Given the description of an element on the screen output the (x, y) to click on. 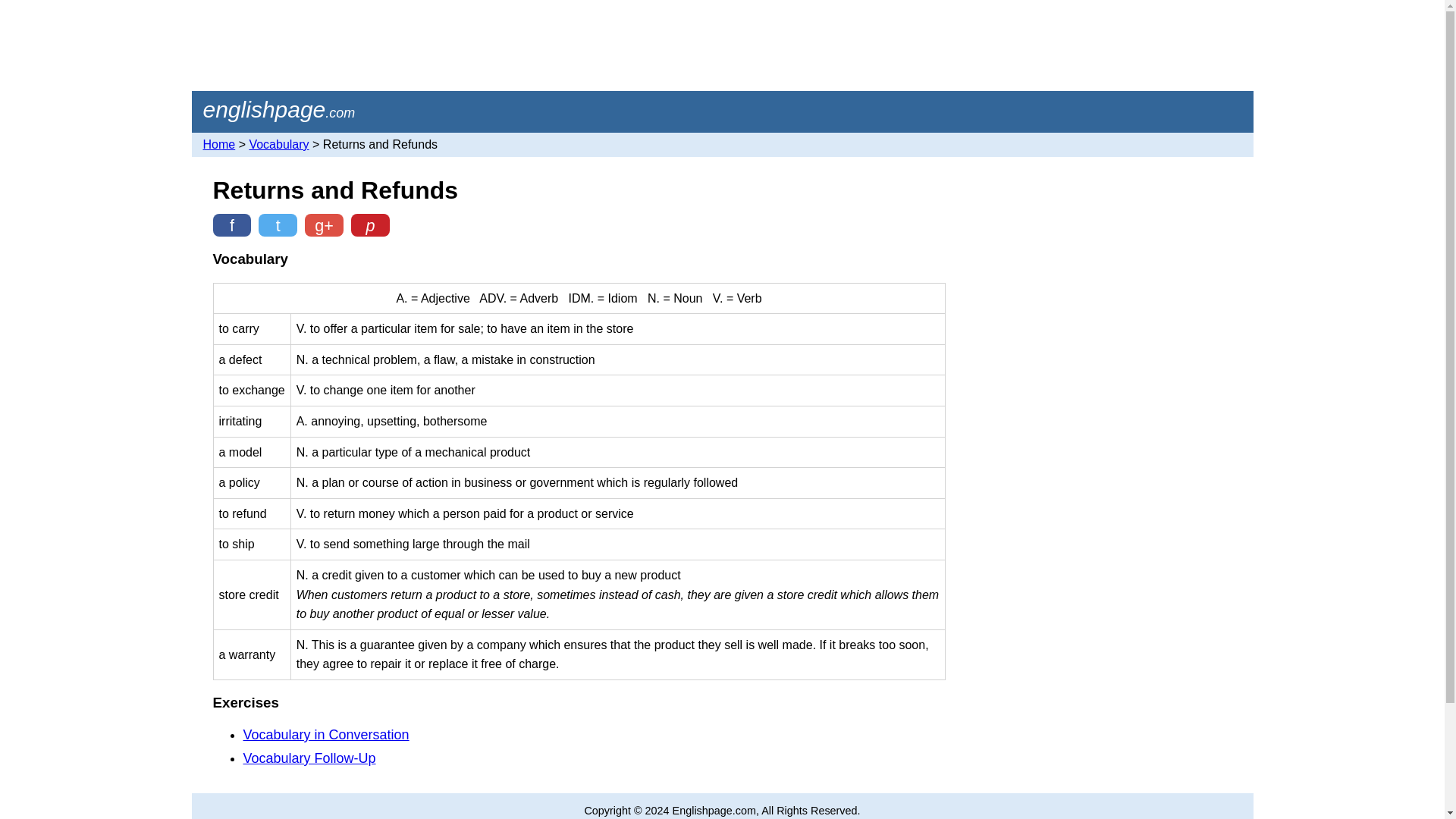
Vocabulary (278, 144)
f (231, 224)
Vocabulary in Conversation (326, 734)
p (370, 224)
Vocabulary Follow-Up (309, 758)
englishpage.com (279, 109)
Advertisement (1109, 263)
Home (279, 109)
t (278, 224)
Advertisement (721, 45)
Home (219, 144)
